Given the description of an element on the screen output the (x, y) to click on. 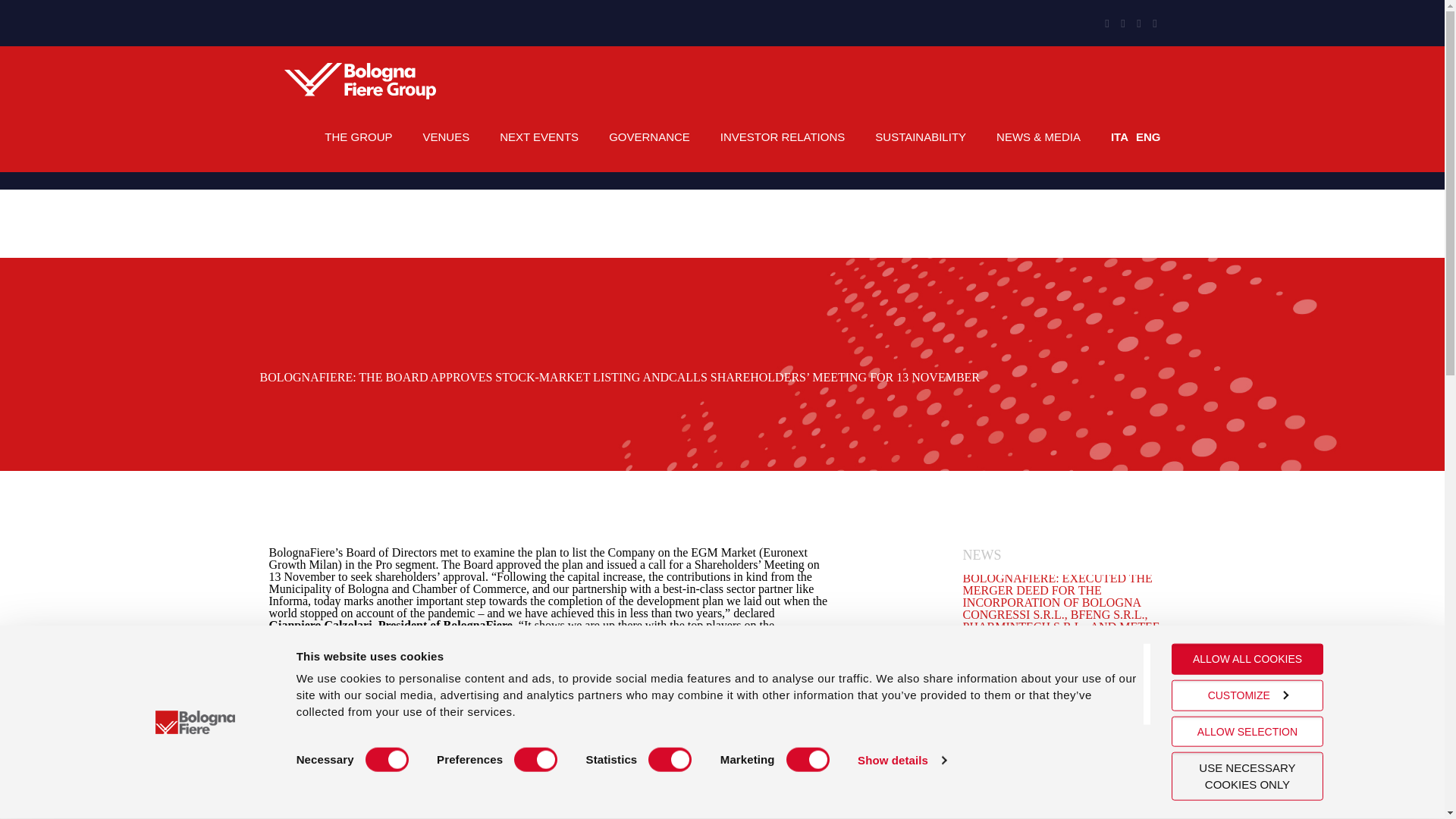
Facebook (1138, 23)
YouTube (1155, 23)
ALLOW ALL COOKIES (1247, 658)
LinkedIn (1106, 23)
BolognaFiere Group (359, 80)
Show details (900, 759)
CUSTOMIZE (1247, 694)
ALLOW SELECTION (1247, 730)
THE GROUP (357, 137)
USE NECESSARY COOKIES ONLY (1247, 776)
Instagram (1123, 23)
